Given the description of an element on the screen output the (x, y) to click on. 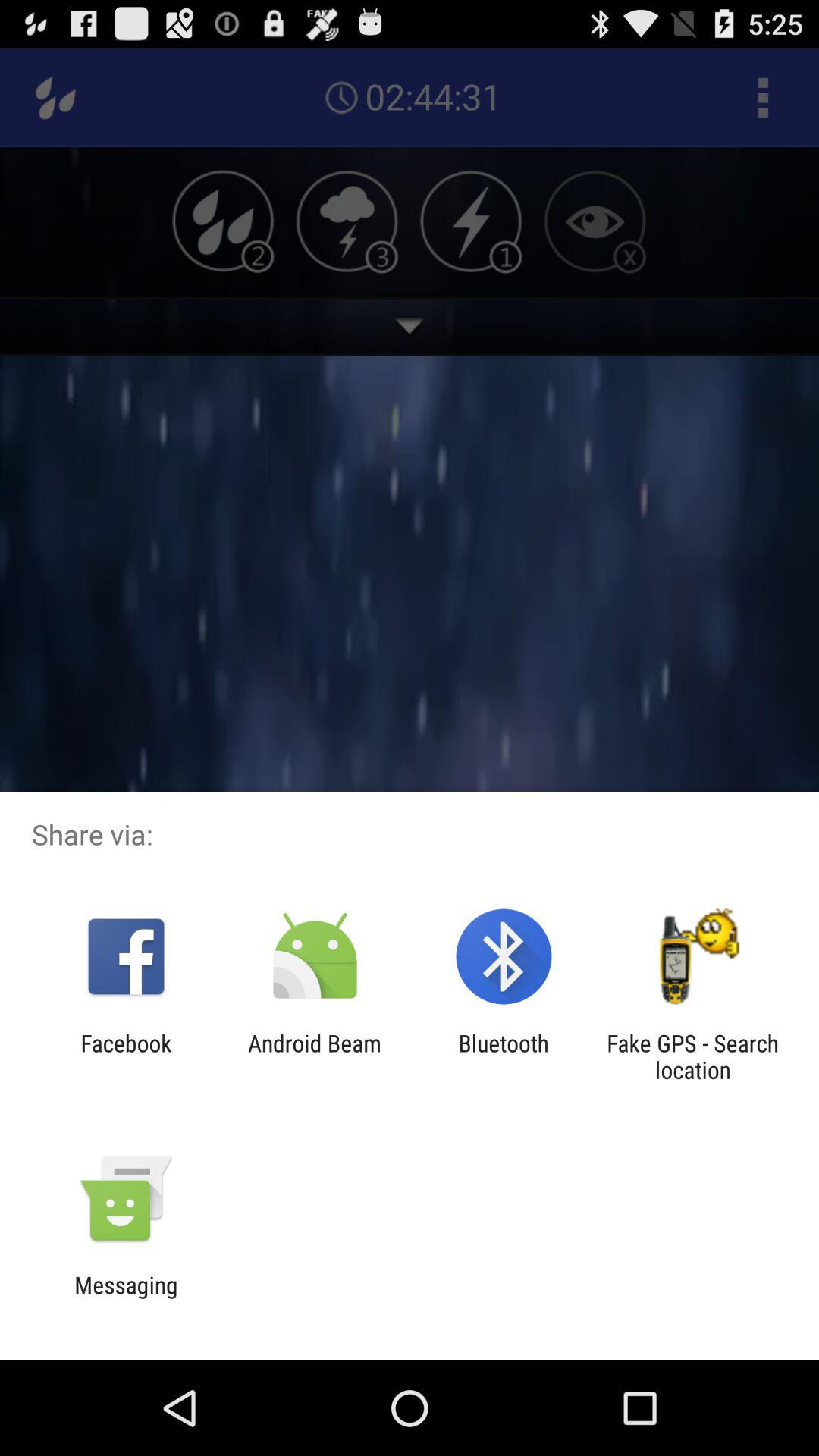
jump to bluetooth app (503, 1056)
